Given the description of an element on the screen output the (x, y) to click on. 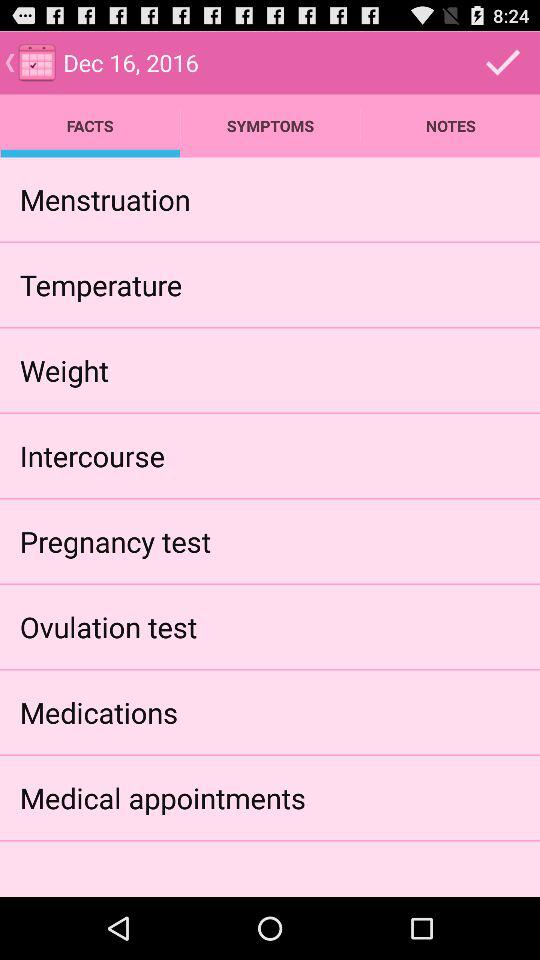
choose item below the weight icon (91, 455)
